Given the description of an element on the screen output the (x, y) to click on. 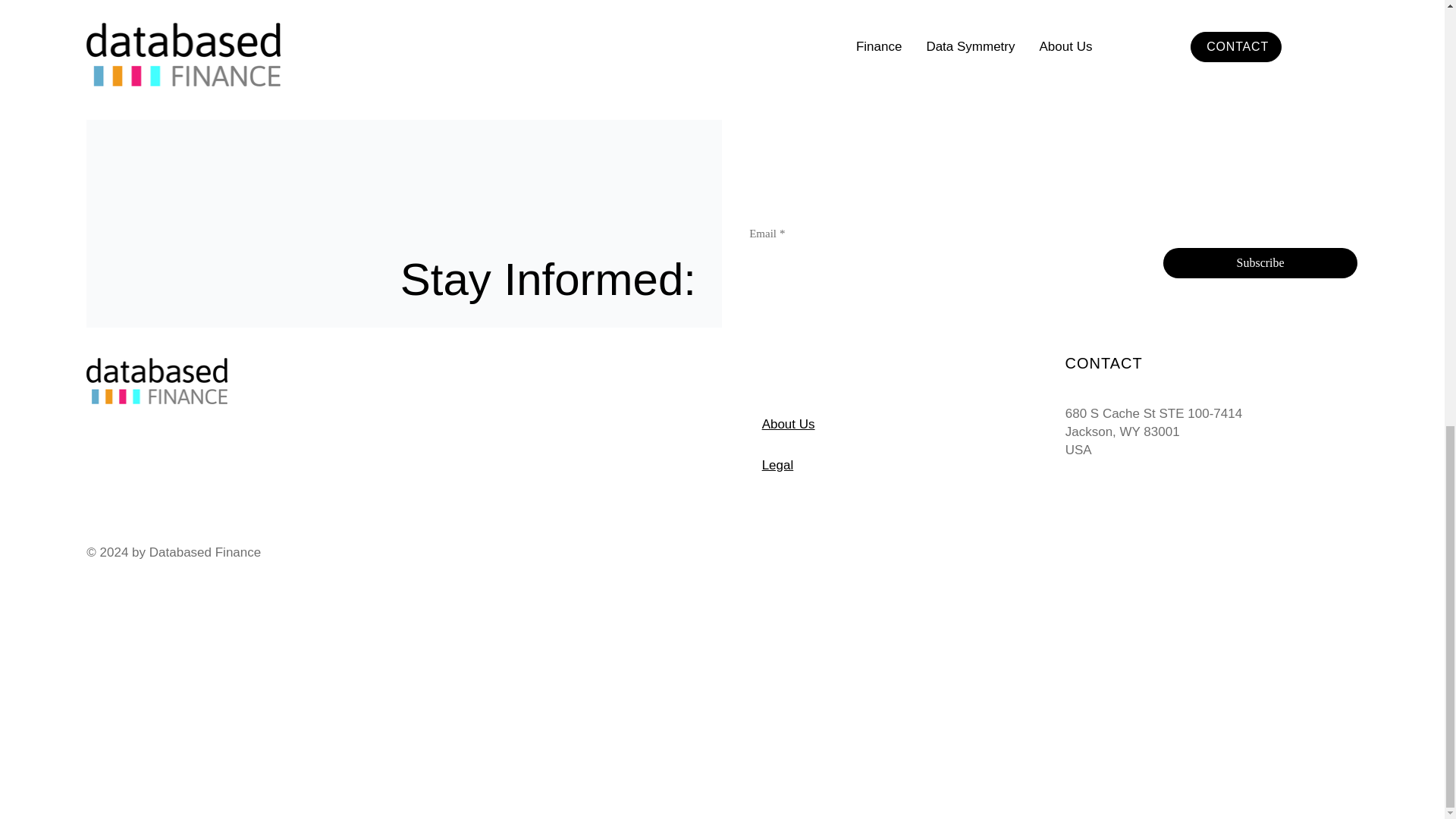
About Us (788, 423)
Legal (777, 464)
Subscribe (1260, 263)
